Given the description of an element on the screen output the (x, y) to click on. 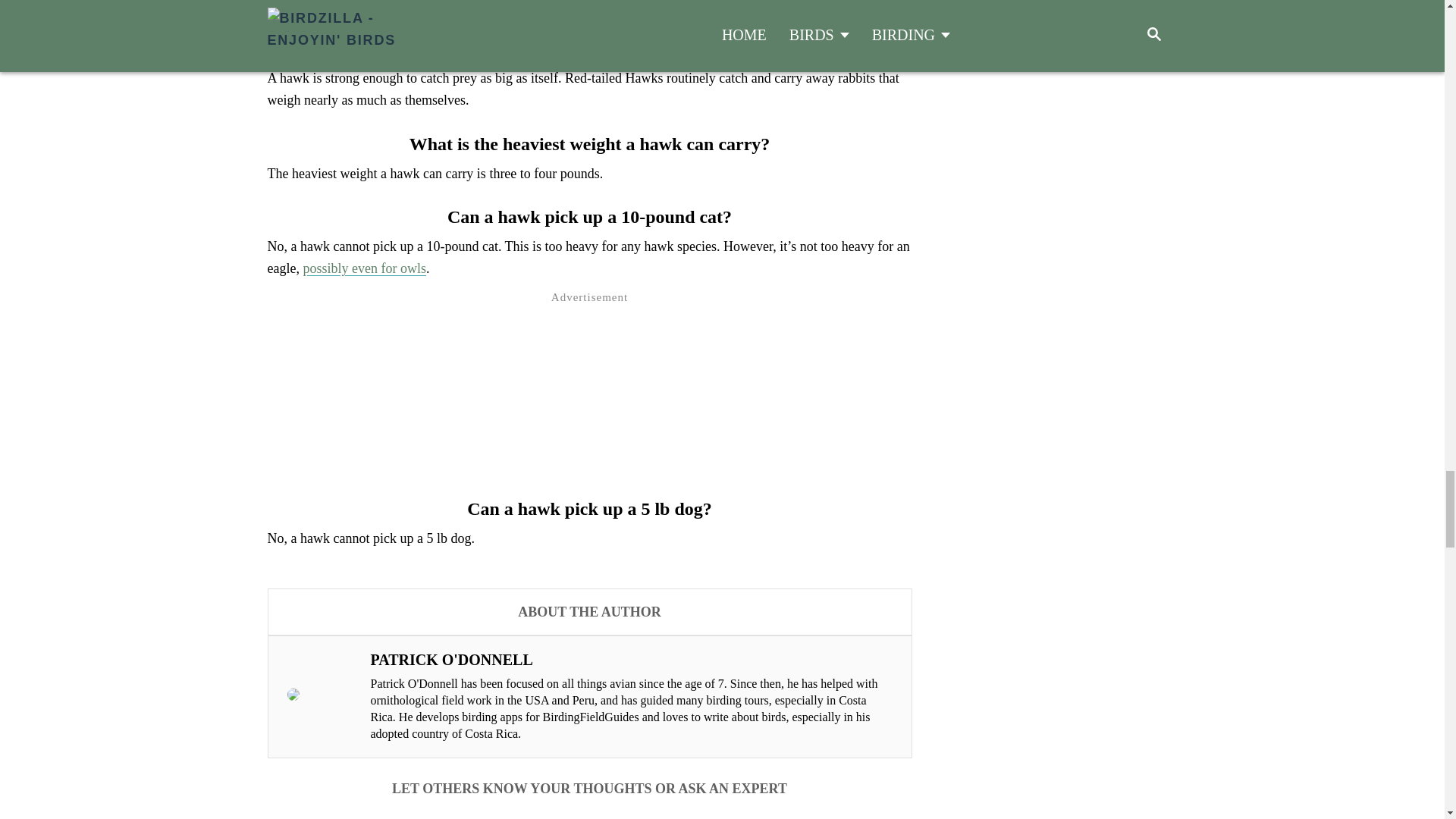
Patrick O'Donnell (630, 659)
